Given the description of an element on the screen output the (x, y) to click on. 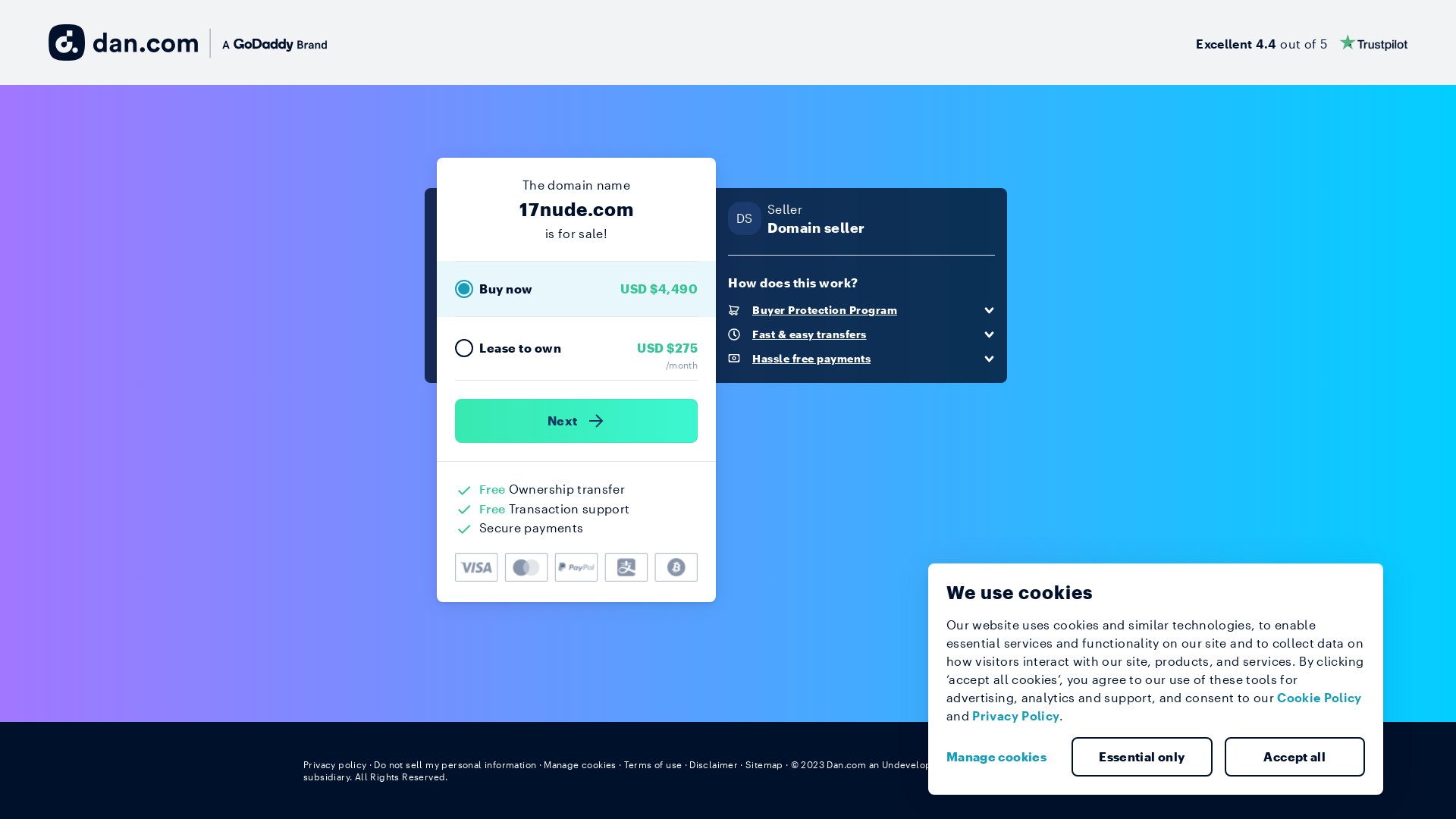
Excellent 4.4 out of 5 Element type: text (1301, 42)
Next
) Element type: text (576, 420)
Privacy Policy Element type: text (1015, 715)
Privacy policy Element type: text (335, 764)
Disclaimer Element type: text (713, 764)
Manage cookies Element type: text (579, 764)
Sitemap Element type: text (764, 764)
Manage cookies Element type: text (1002, 756)
Cookie Policy Element type: text (1319, 697)
Do not sell my personal information Element type: text (454, 764)
Essential only Element type: text (1141, 756)
English Element type: text (1124, 764)
Terms of use Element type: text (653, 764)
Accept all Element type: text (1294, 756)
